Given the description of an element on the screen output the (x, y) to click on. 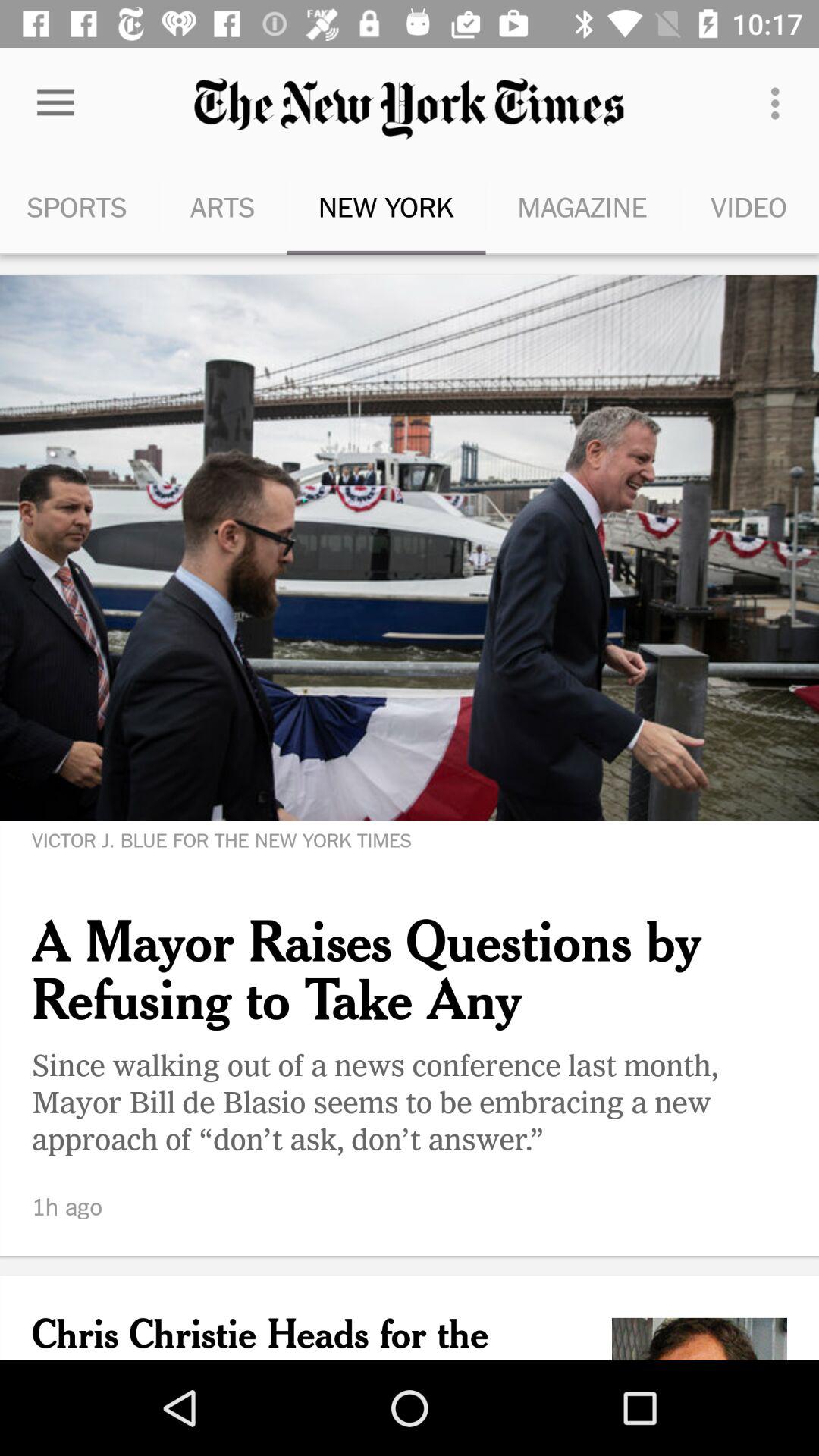
click the icon to the right of the magazine item (779, 103)
